Given the description of an element on the screen output the (x, y) to click on. 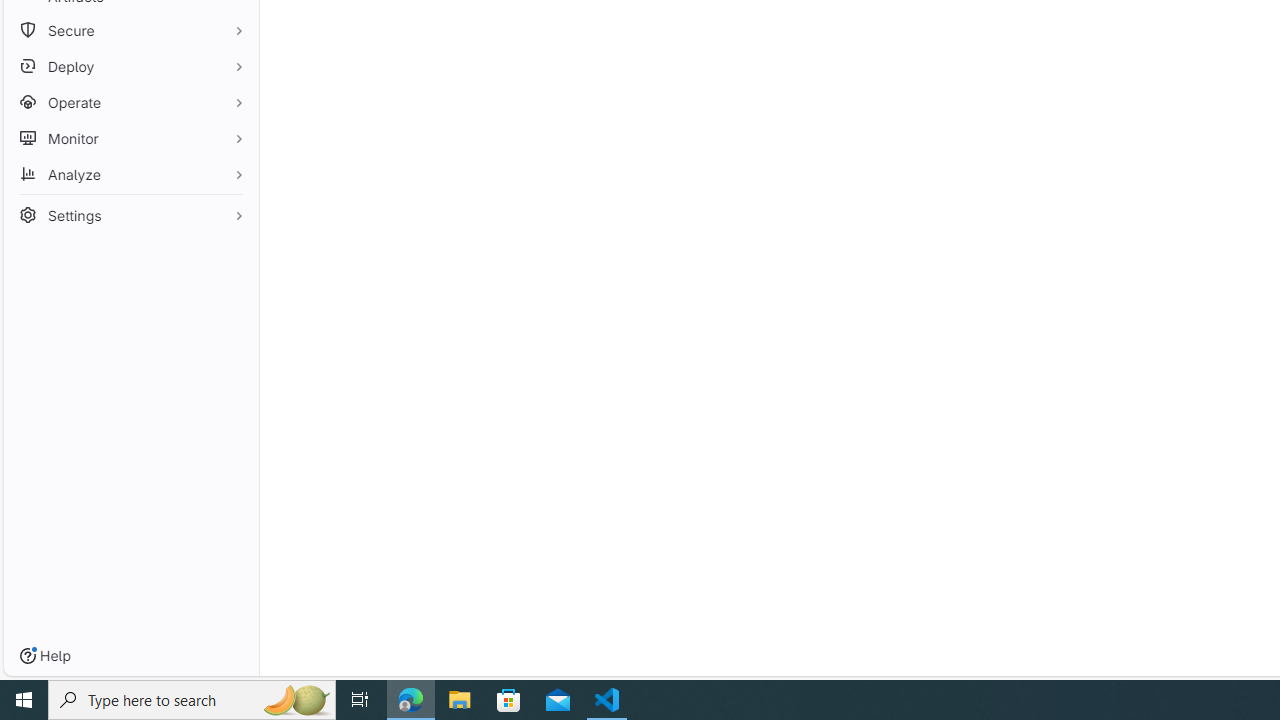
Secure (130, 29)
Deploy (130, 65)
Secure (130, 29)
Operate (130, 101)
Analyze (130, 173)
Operate (130, 101)
Analyze (130, 173)
Monitor (130, 137)
Monitor (130, 137)
Deploy (130, 65)
